Given the description of an element on the screen output the (x, y) to click on. 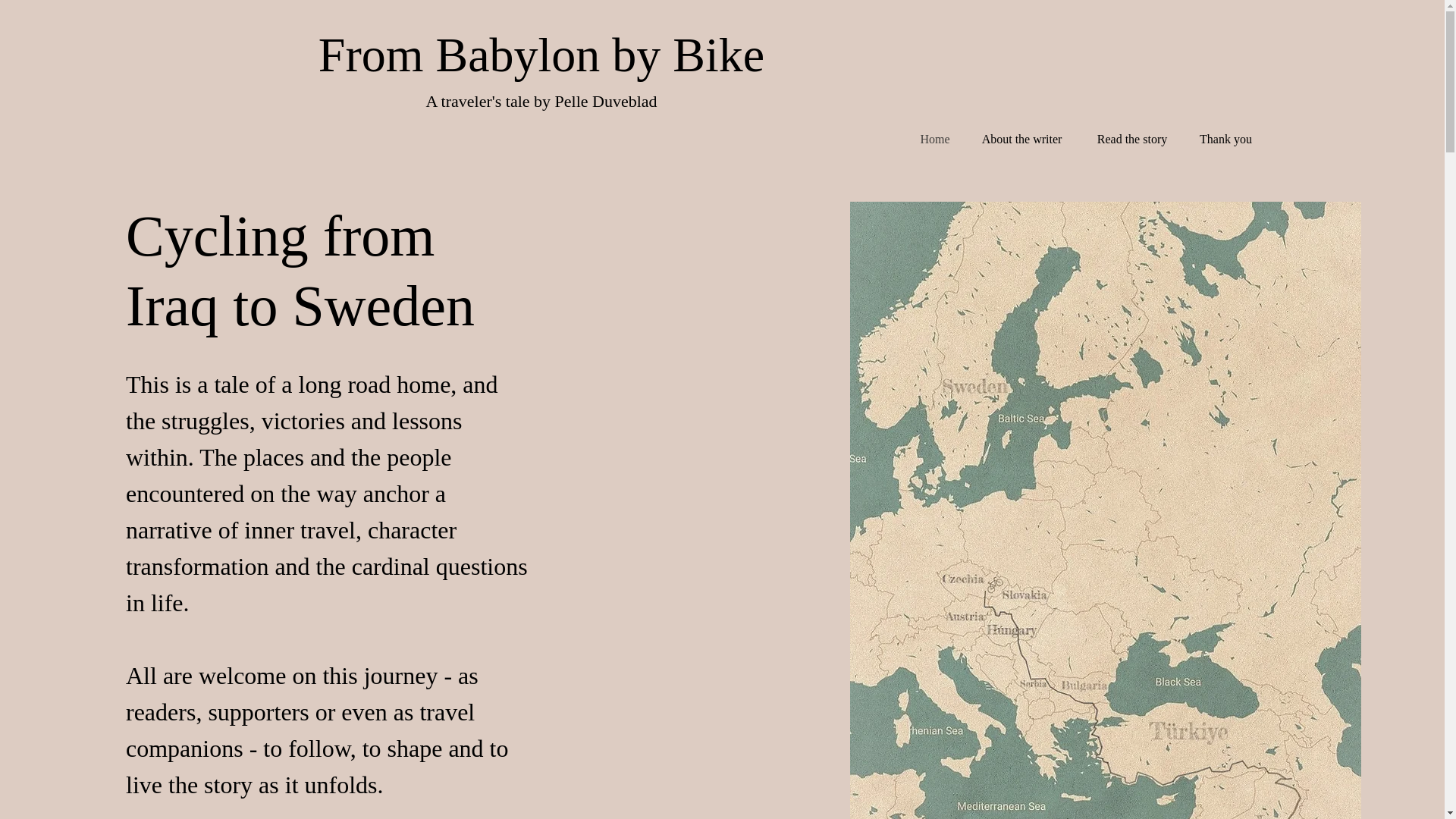
Thank you (1225, 138)
Home (934, 138)
From Babylon by Bike (541, 54)
About the writer (1021, 138)
Read the story (1132, 138)
